Given the description of an element on the screen output the (x, y) to click on. 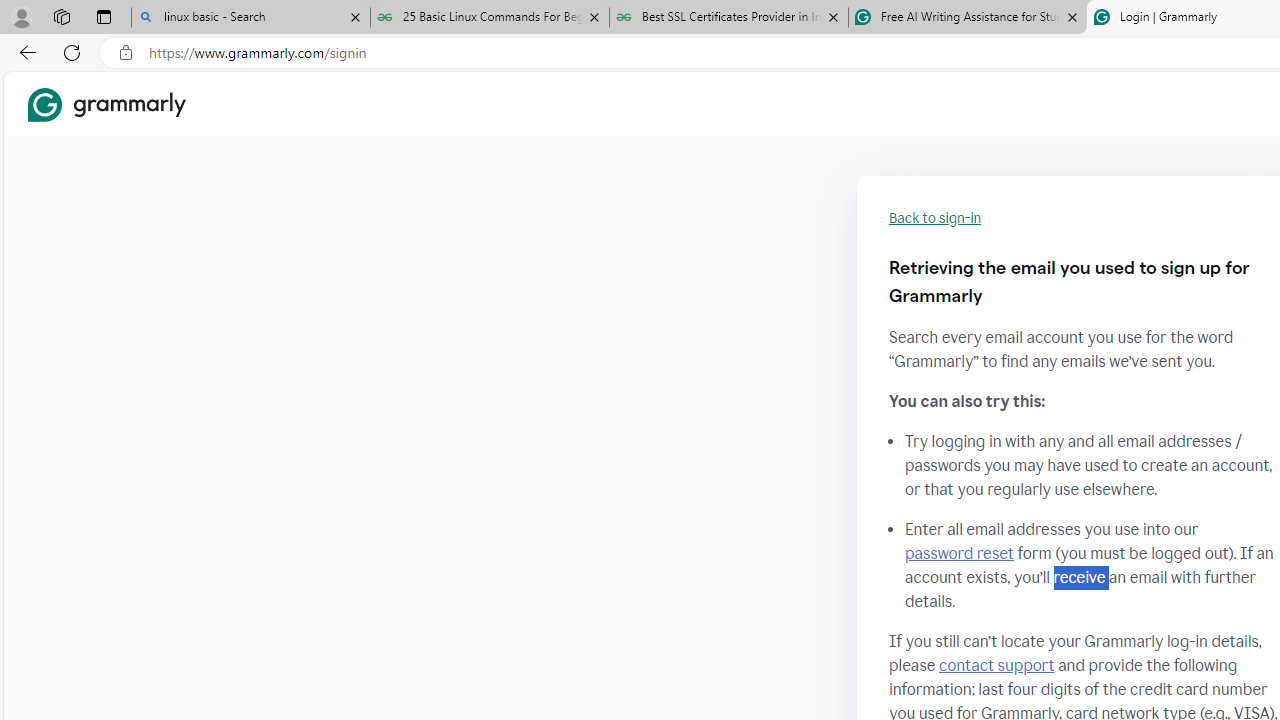
Back to sign-in (935, 218)
